Given the description of an element on the screen output the (x, y) to click on. 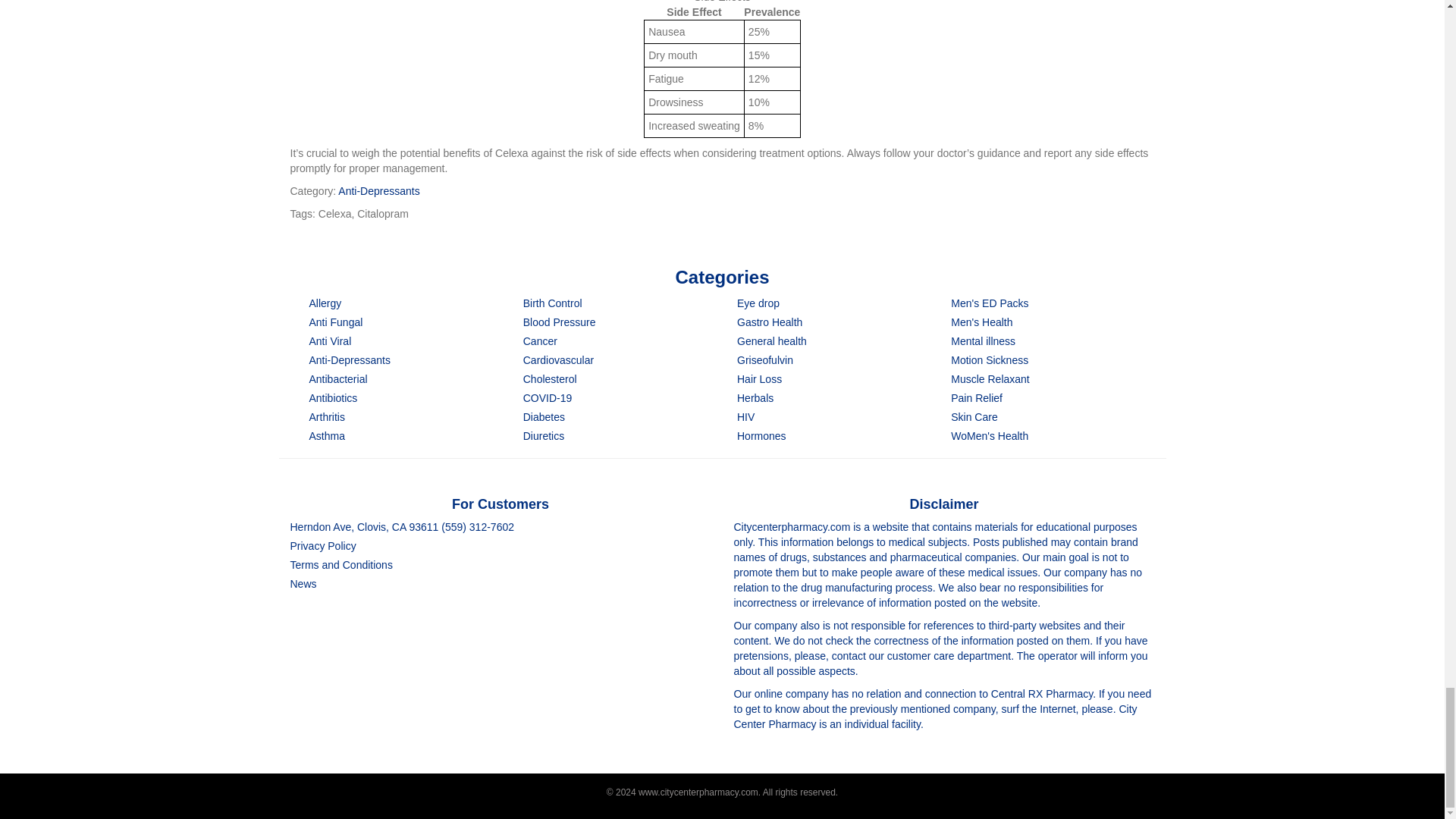
Anti-Depressants (378, 191)
COVID-19 (547, 398)
Anti Viral (330, 340)
Diuretics (543, 435)
Eye drop (757, 303)
Anti-Depressants (349, 359)
Anti Fungal (335, 322)
Antibiotics (333, 398)
Asthma (326, 435)
Gastro Health (769, 322)
Allergy (325, 303)
Diabetes (543, 417)
Cardiovascular (558, 359)
Birth Control (552, 303)
Arthritis (326, 417)
